Given the description of an element on the screen output the (x, y) to click on. 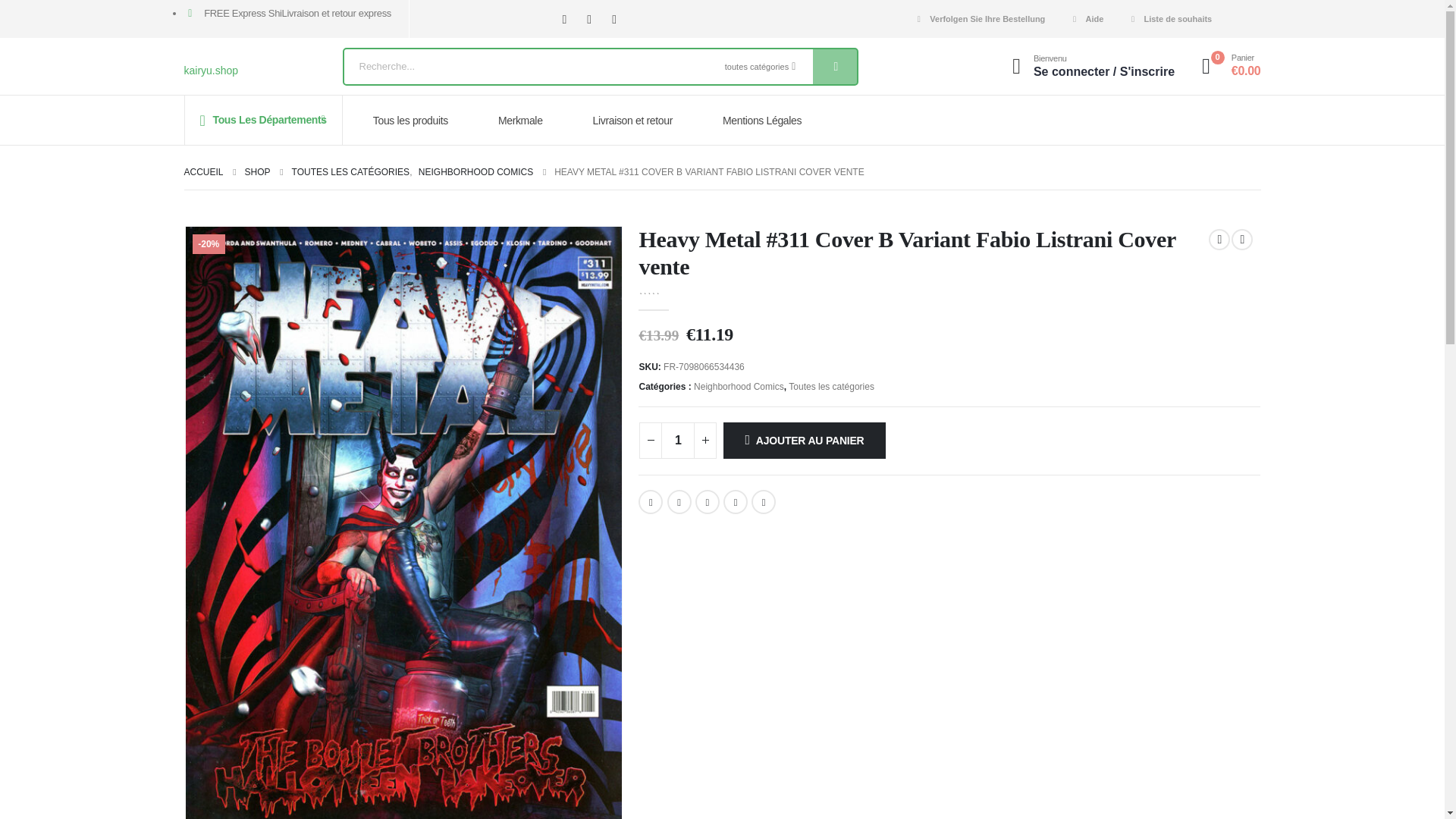
AJOUTER AU PANIER (804, 440)
Facebook (650, 501)
SHOP (257, 171)
Merkmale (525, 119)
Neighborhood Comics (739, 386)
NEIGHBORHOOD COMICS (475, 171)
1 (677, 440)
Verfolgen Sie Ihre Bestellung (979, 18)
LinkedIn (707, 501)
Gazouillement (678, 501)
Facebook (563, 18)
ACCUEIL (202, 171)
Tous les produits (415, 119)
Email (763, 501)
- (650, 440)
